Given the description of an element on the screen output the (x, y) to click on. 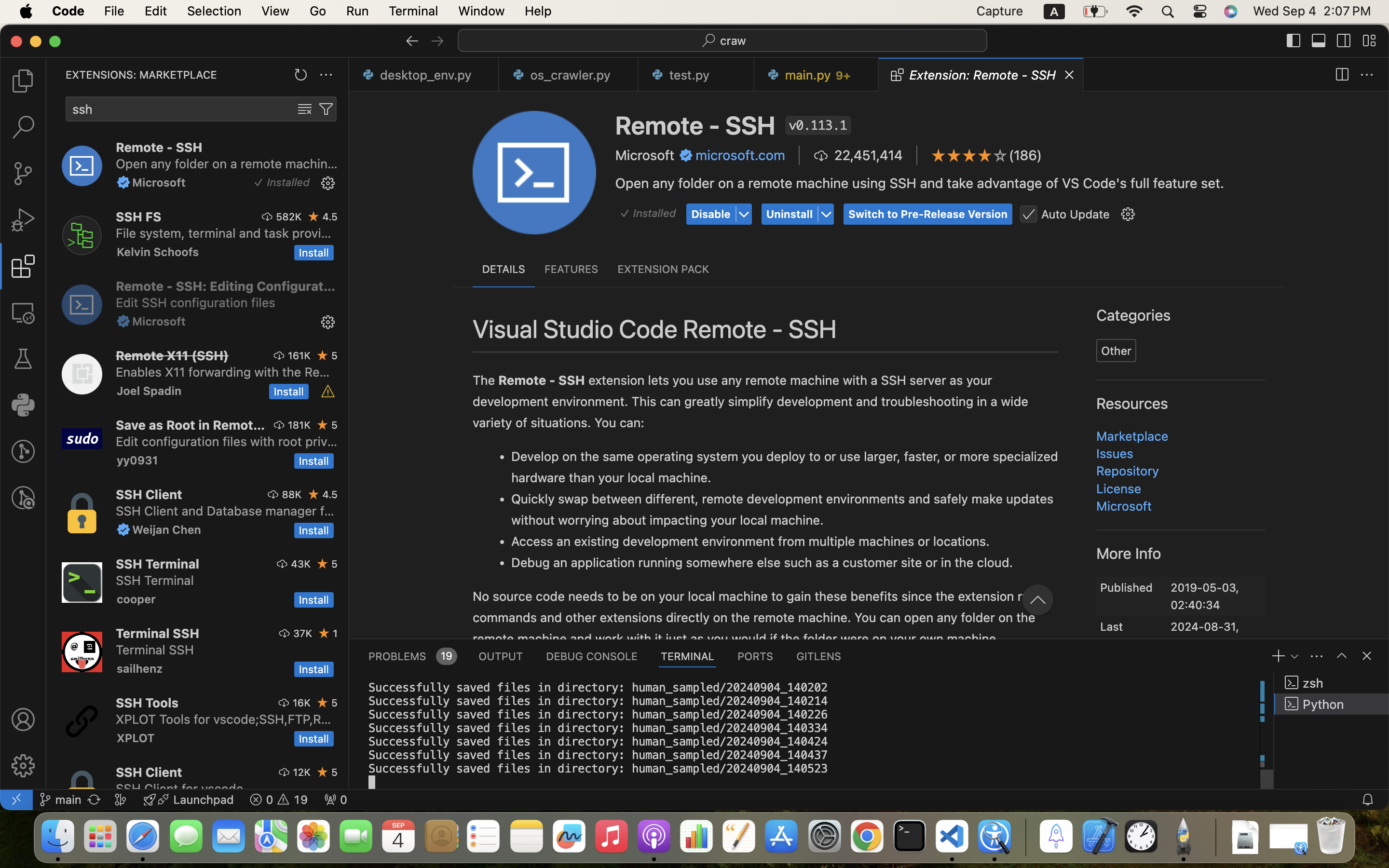
cooper Element type: AXStaticText (136, 598)
 Element type: AXGroup (23, 219)
0 GITLENS Element type: AXRadioButton (819, 655)
More Info Element type: AXStaticText (1128, 552)
zsh  Element type: AXGroup (1331, 682)
